Given the description of an element on the screen output the (x, y) to click on. 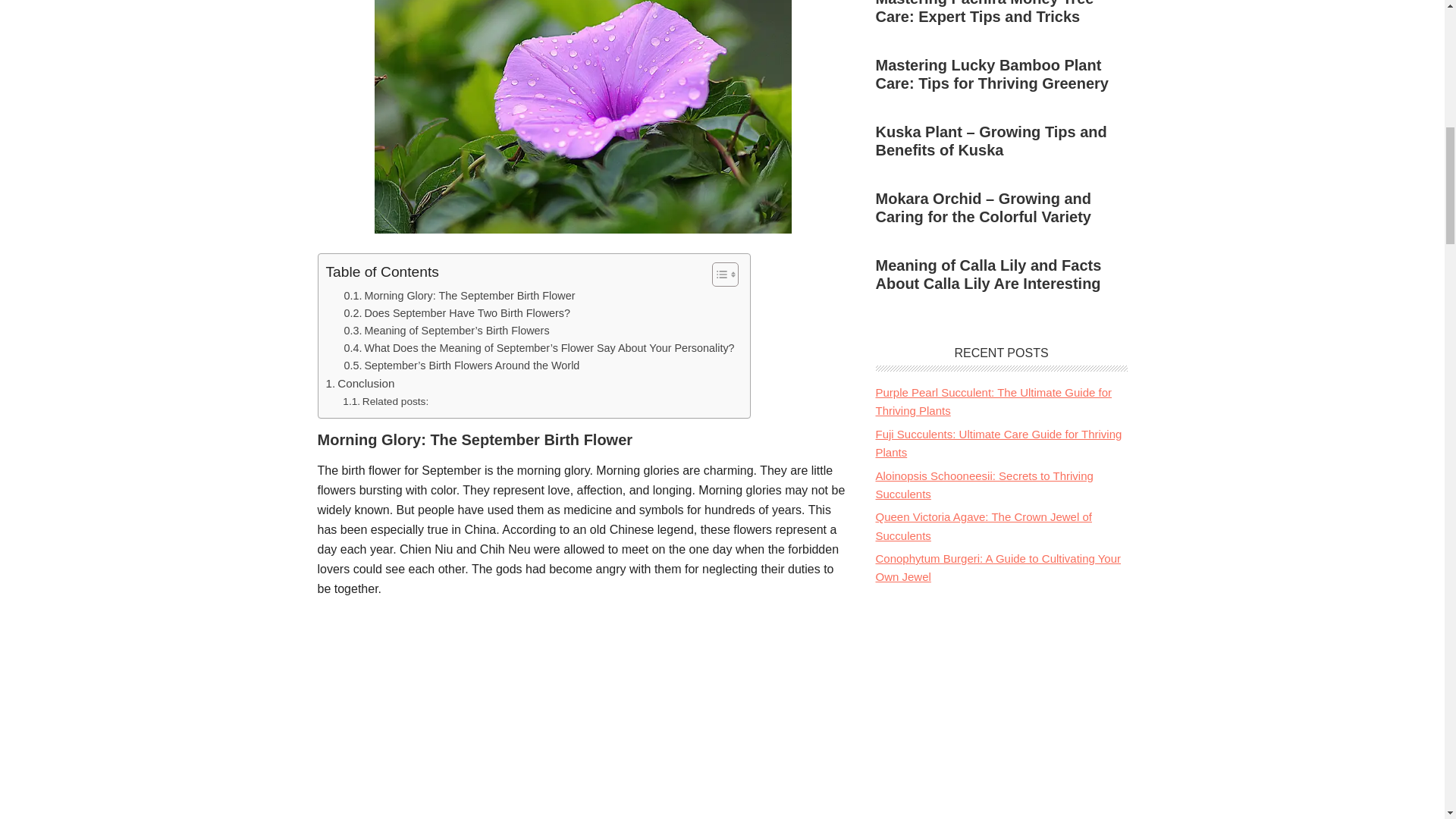
Conclusion (360, 383)
Related posts: (385, 401)
Related posts: (385, 401)
Does September Have Two Birth Flowers? (456, 313)
Conclusion (360, 383)
Morning Glory: The September Birth Flower (459, 295)
Morning Glory: The September Birth Flower (459, 295)
Does September Have Two Birth Flowers? (456, 313)
